Given the description of an element on the screen output the (x, y) to click on. 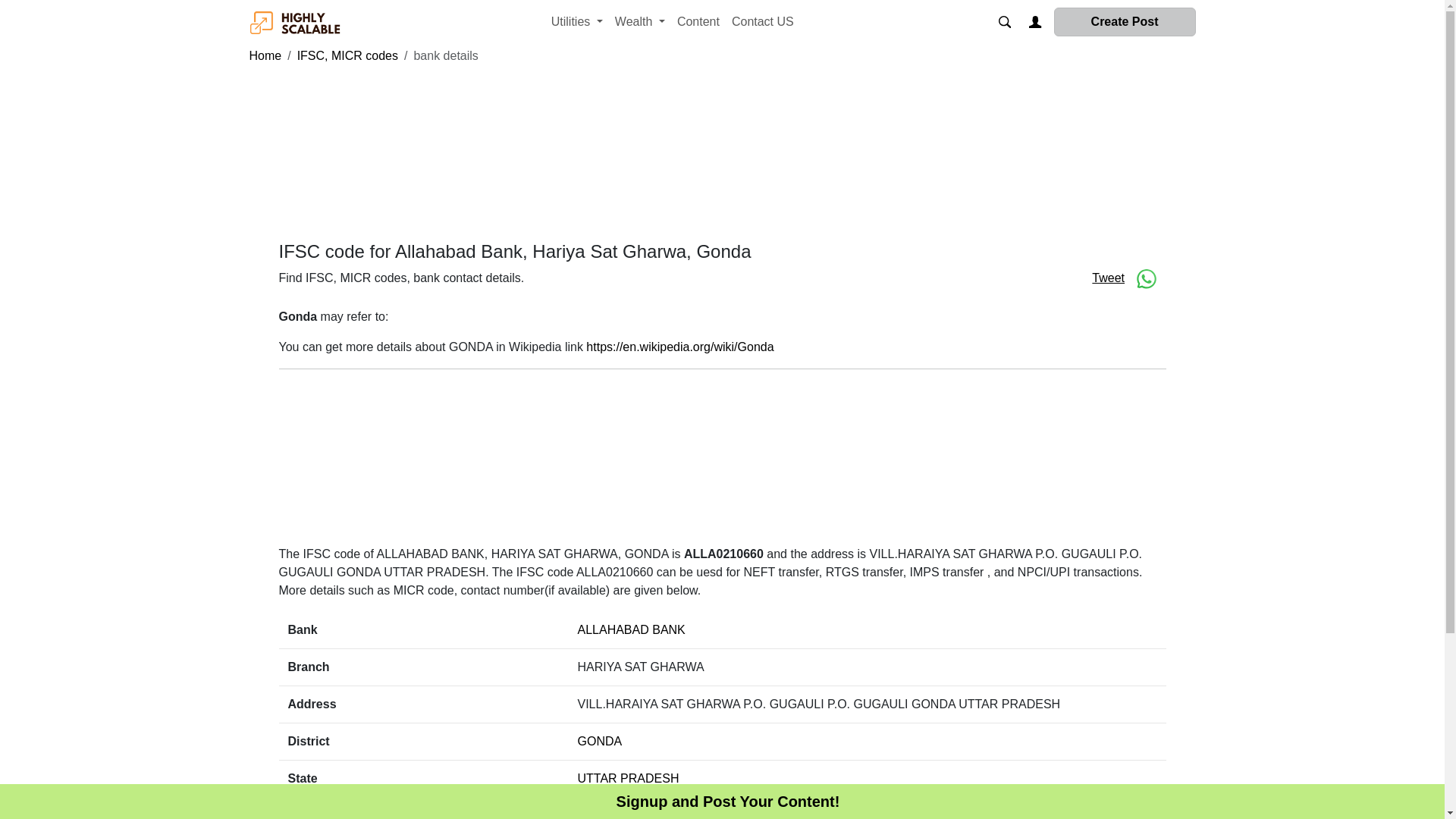
Contact US (762, 21)
ALLAHABAD BANK (631, 629)
UTTAR PRADESH (628, 778)
Sticky footer container (727, 801)
Tweet (1108, 277)
IFSC, MICR codes (347, 55)
Home (264, 55)
Content (698, 21)
GONDA (600, 740)
